Given the description of an element on the screen output the (x, y) to click on. 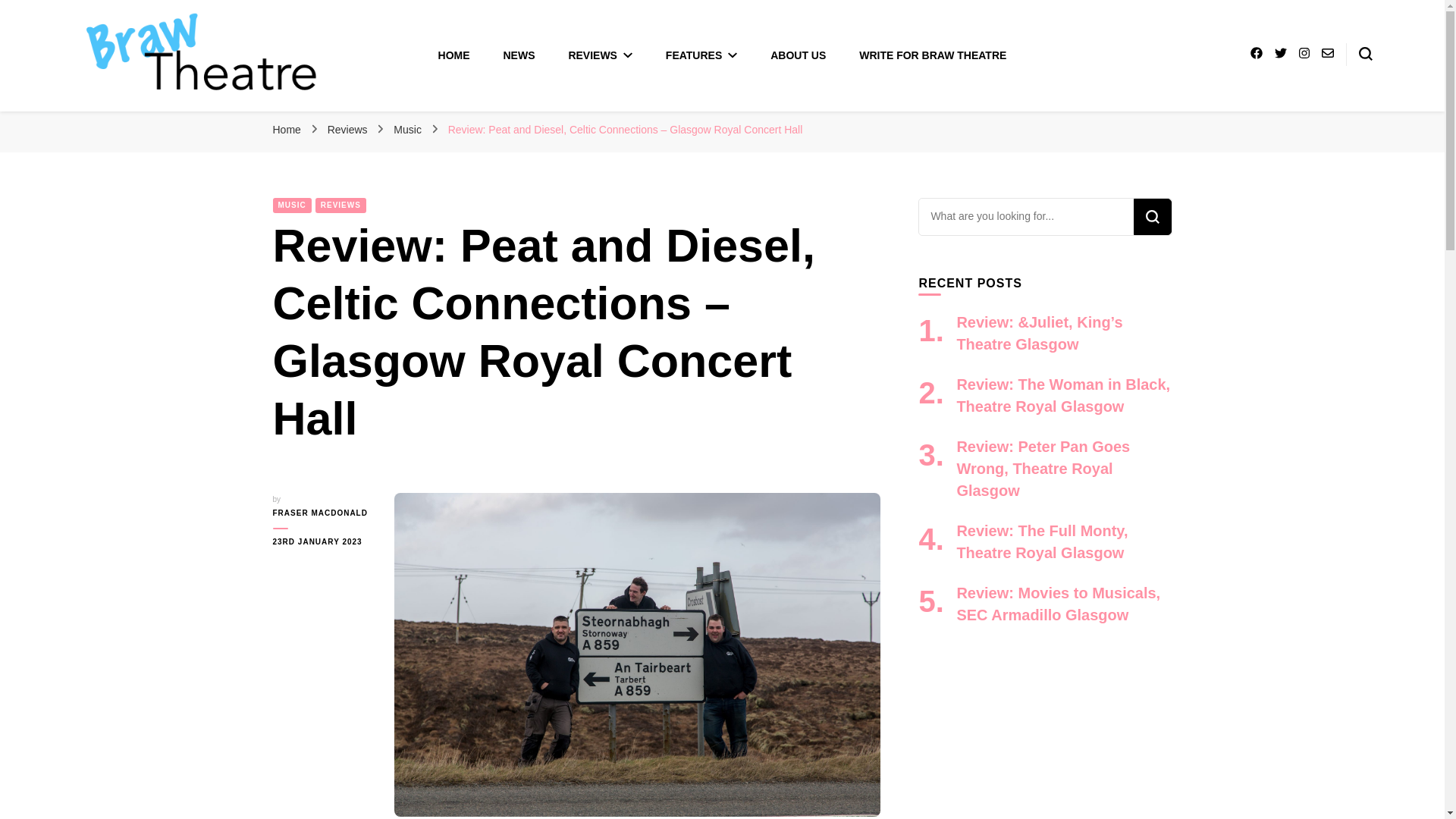
NEWS (519, 55)
Search (1151, 217)
Braw Theatre (152, 114)
Search (1151, 217)
REVIEWS (599, 55)
HOME (454, 55)
